Given the description of an element on the screen output the (x, y) to click on. 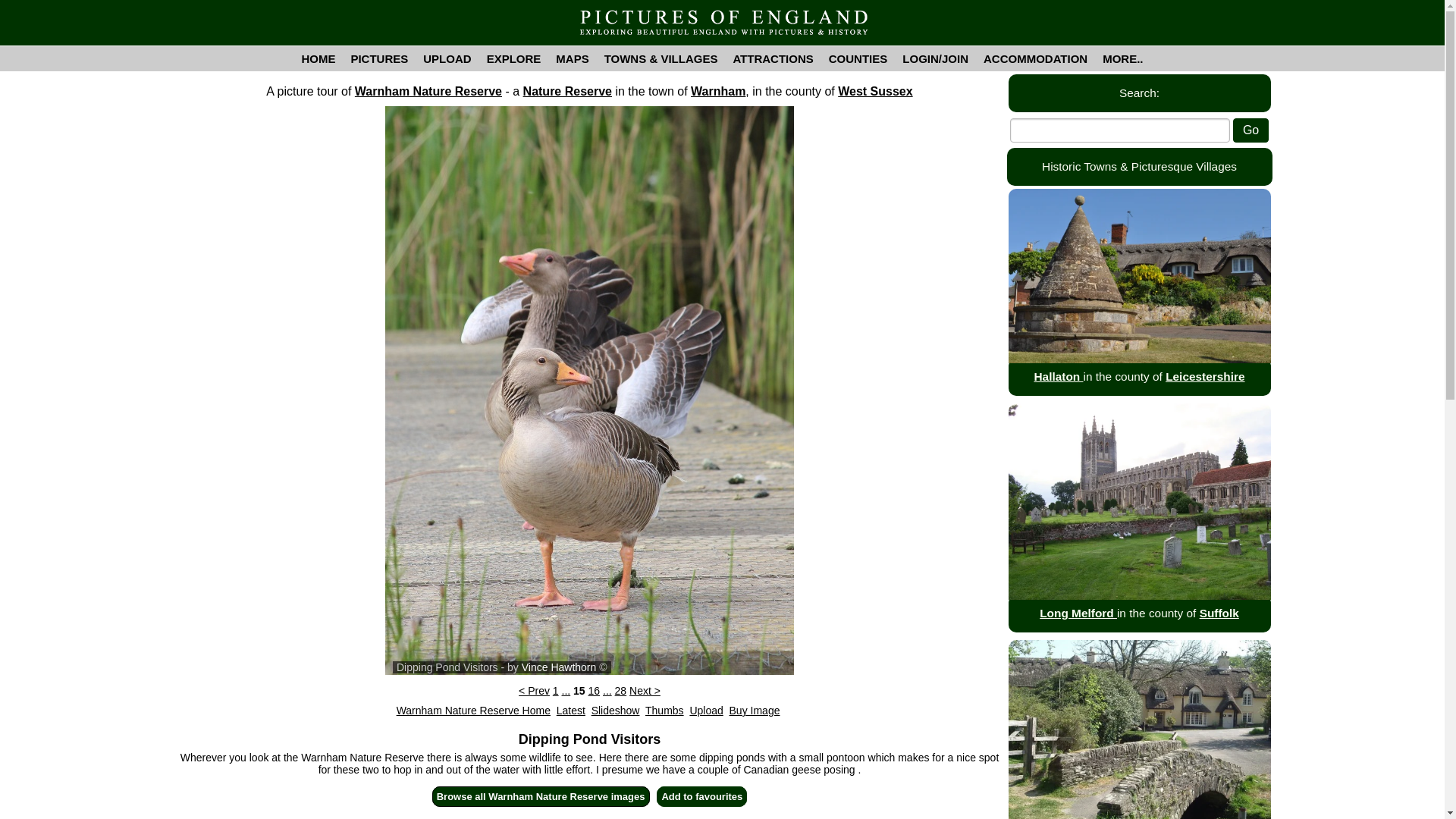
EXPLORE (513, 58)
Hallaton (1058, 376)
ATTRACTIONS (773, 58)
PICTURES (378, 58)
HOME (318, 58)
COUNTIES (858, 58)
Go (1250, 129)
Leicestershire (1205, 376)
Click to buy this photo of Warnham Nature Reserve (754, 710)
ACCOMMODATION (1034, 58)
